Given the description of an element on the screen output the (x, y) to click on. 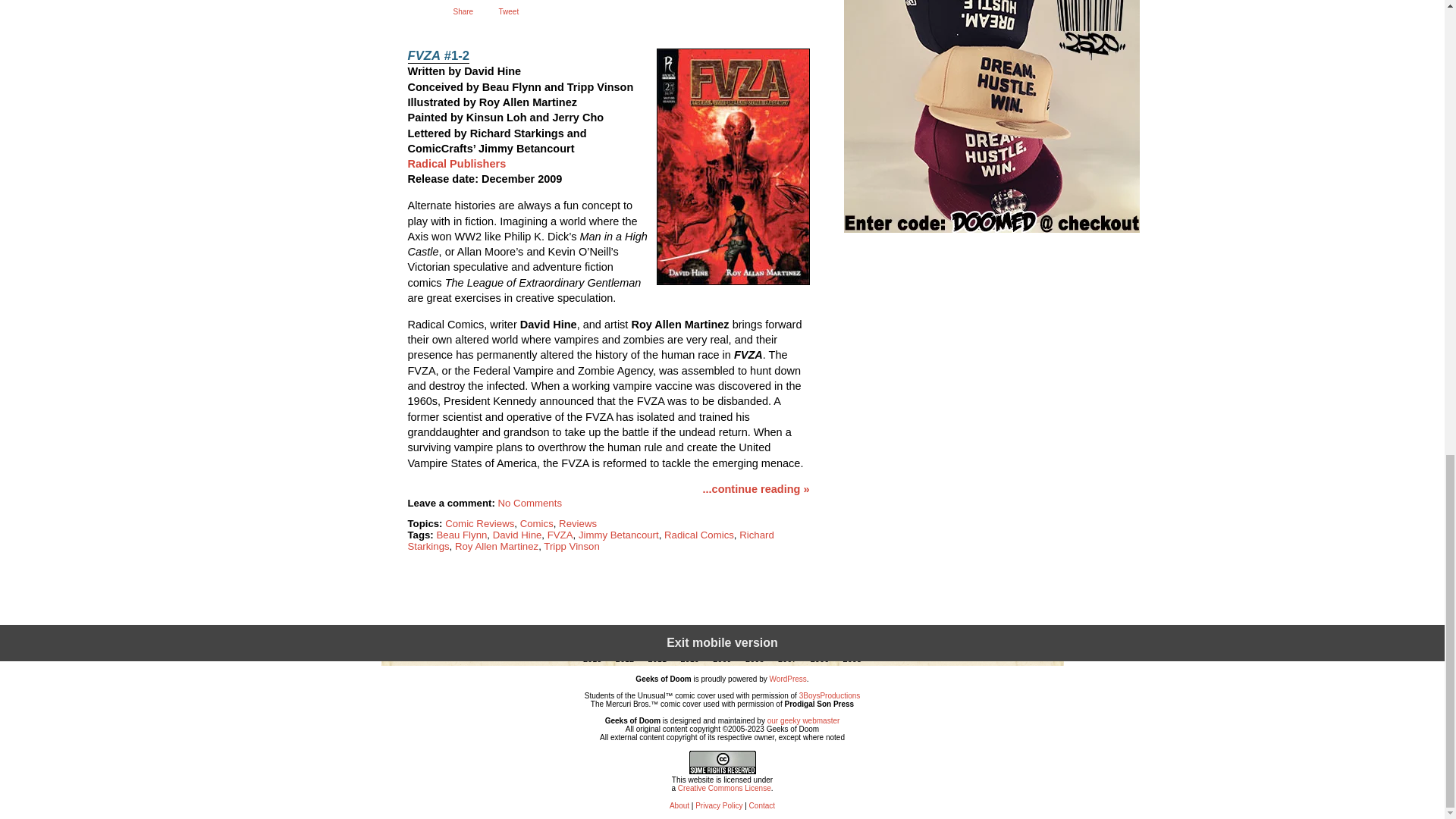
Tweet (509, 11)
Radical Publishers (456, 163)
Facebook like button (426, 19)
Share (463, 11)
